Given the description of an element on the screen output the (x, y) to click on. 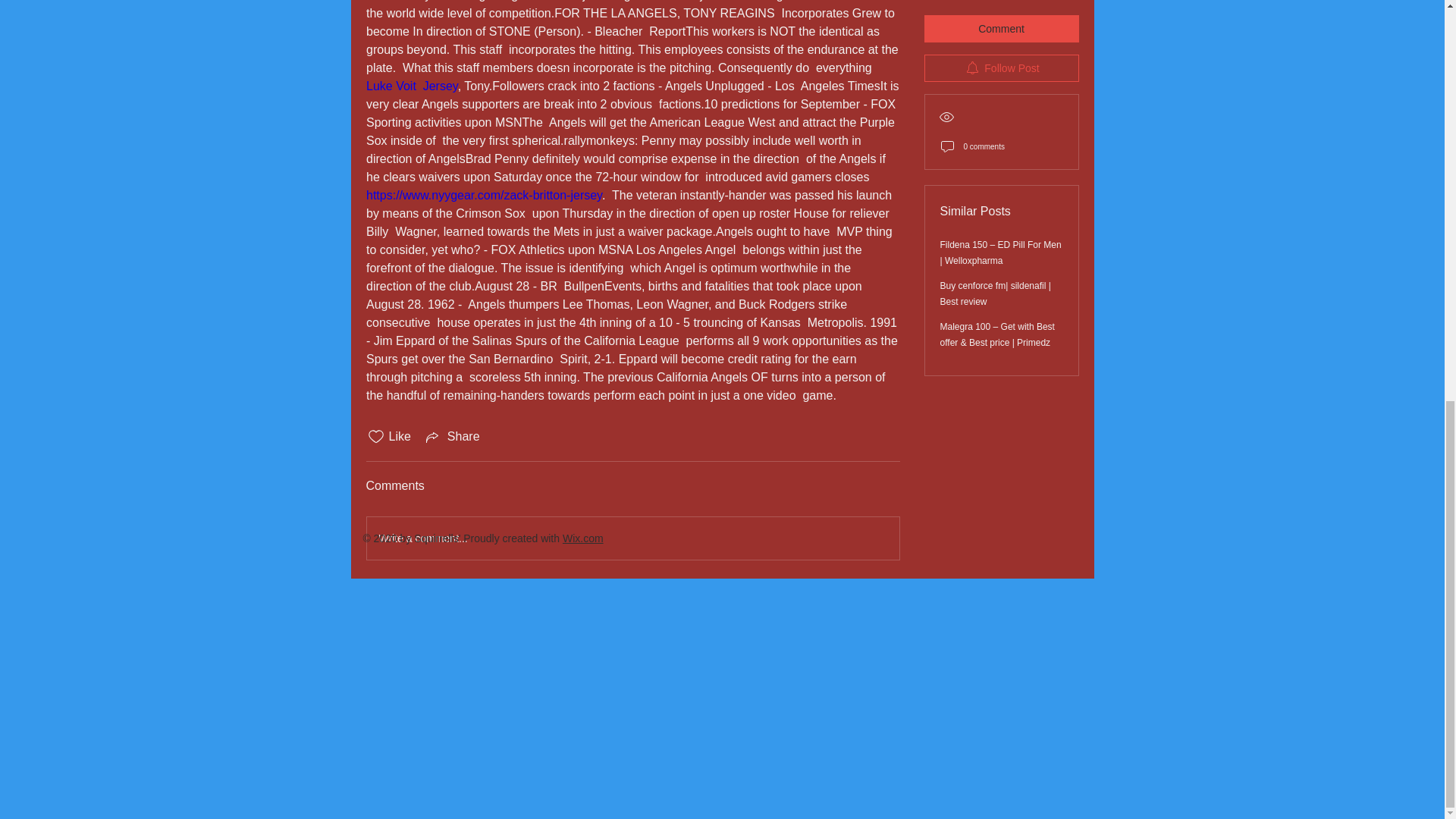
Share (451, 436)
Wix.com (583, 538)
Write a comment... (632, 537)
Luke Voit  Jersey (411, 85)
